Given the description of an element on the screen output the (x, y) to click on. 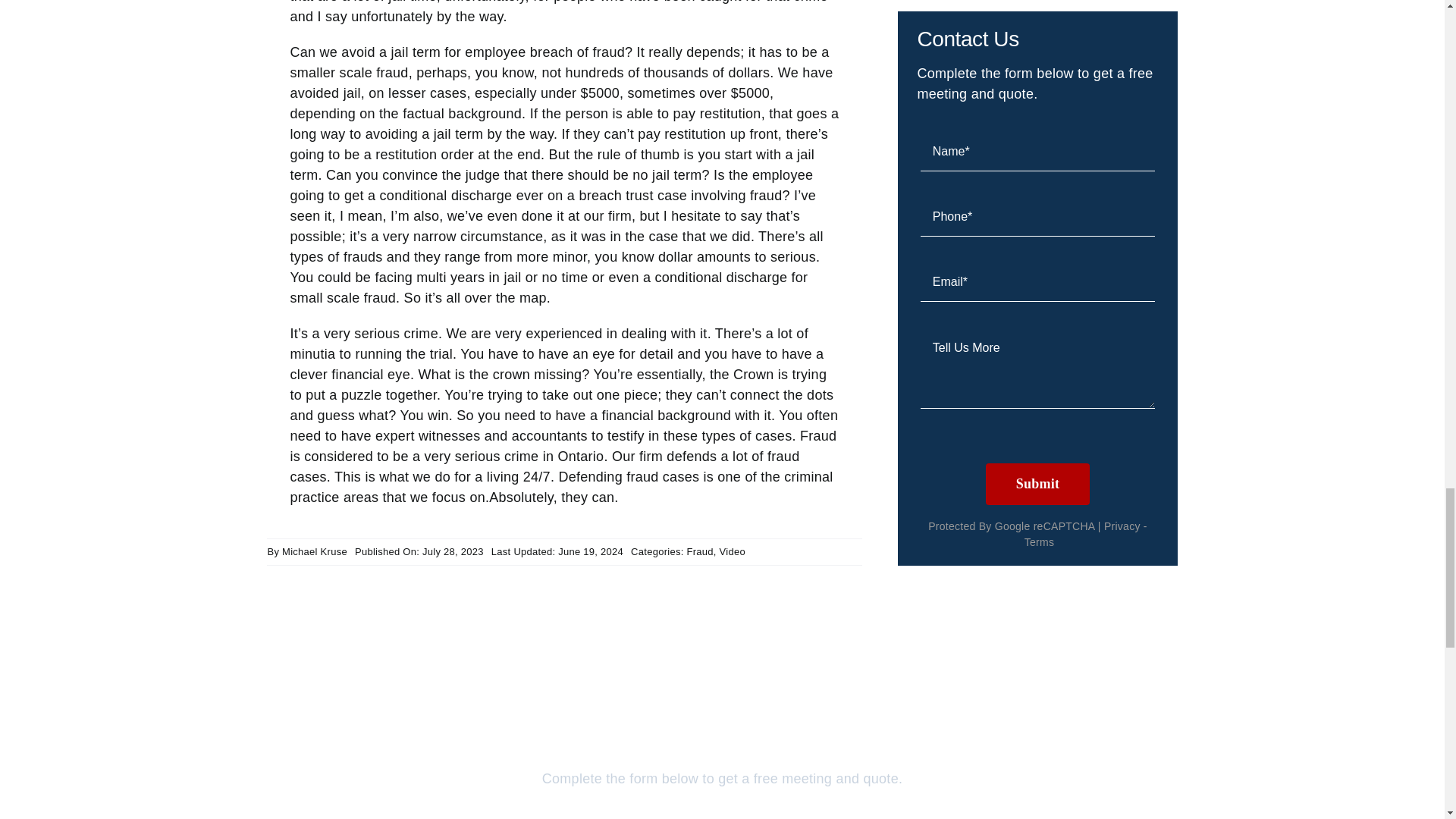
Posts by Michael Kruse (314, 551)
